Given the description of an element on the screen output the (x, y) to click on. 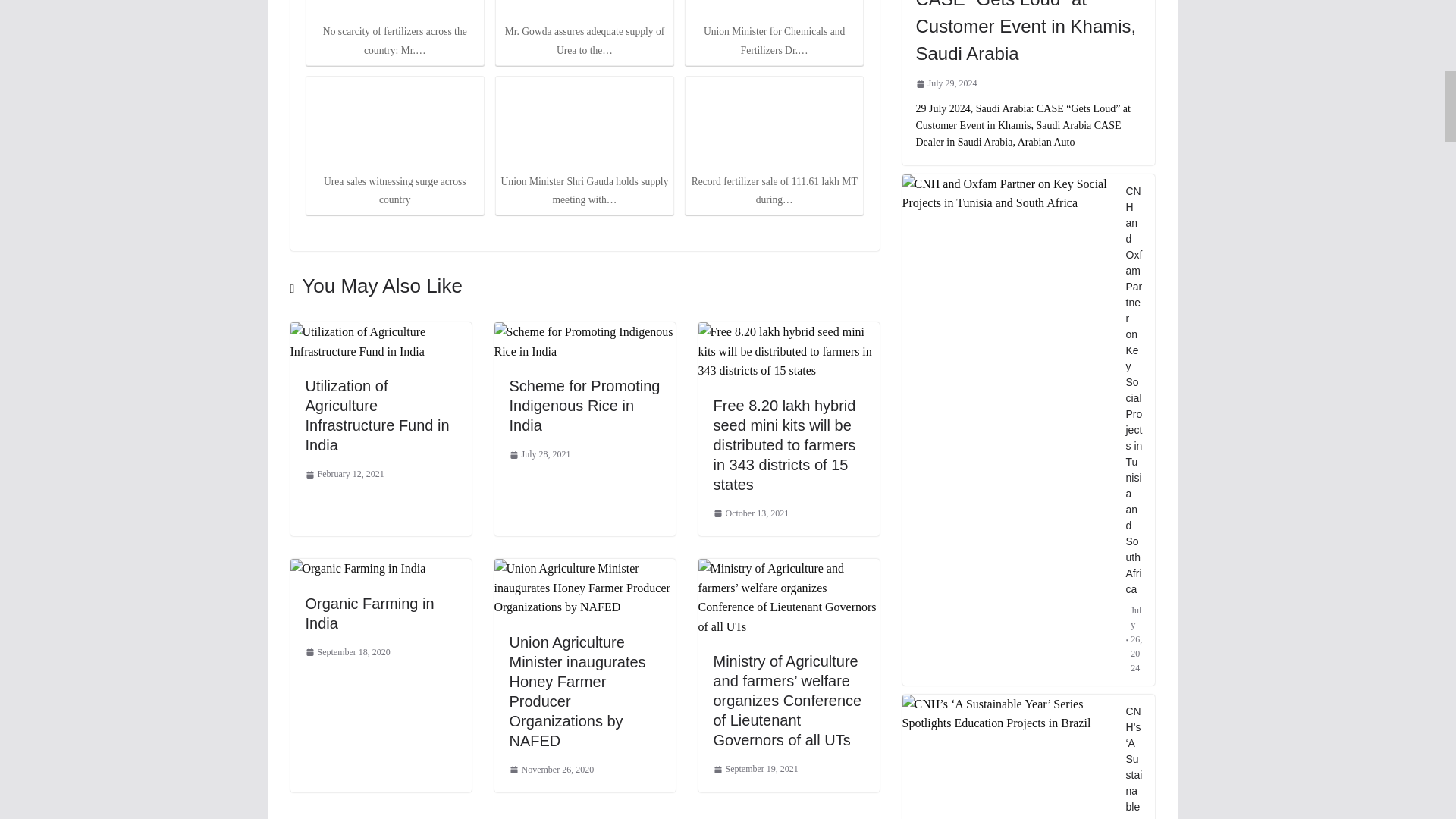
Urea sales witnessing surge across country (394, 123)
